Given the description of an element on the screen output the (x, y) to click on. 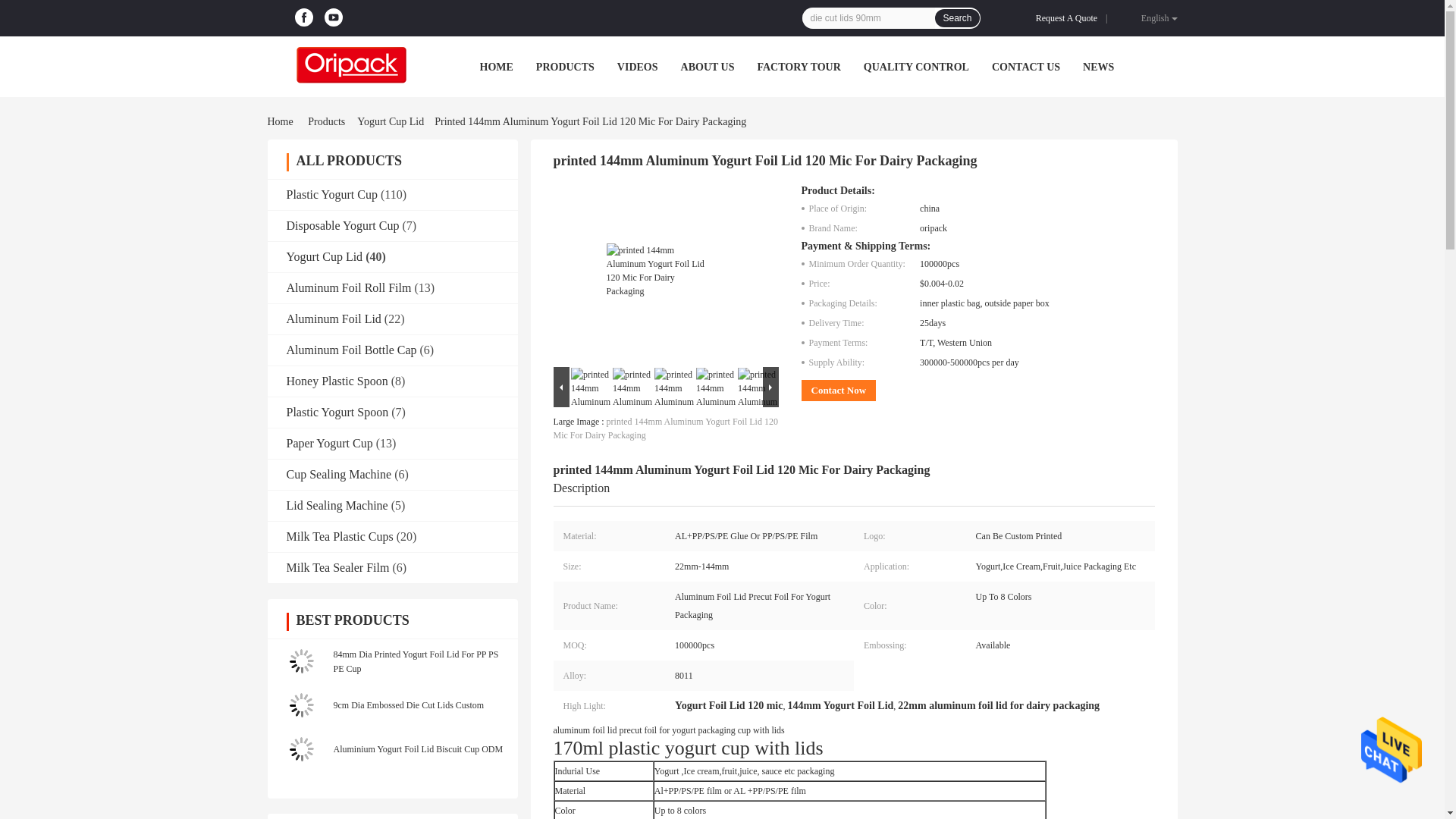
FACTORY TOUR (798, 66)
CONTACT US (1025, 66)
Oripack Ltd YouTube (333, 17)
Products (325, 121)
Yogurt Cup Lid (389, 121)
ABOUT US (708, 66)
PRODUCTS (564, 66)
HOME (495, 66)
Plastic Yogurt Cup (331, 194)
QUALITY CONTROL (916, 66)
Home (282, 121)
Oripack Ltd Facebook (303, 17)
VIDEOS (637, 66)
NEWS (1098, 66)
Search (956, 18)
